Given the description of an element on the screen output the (x, y) to click on. 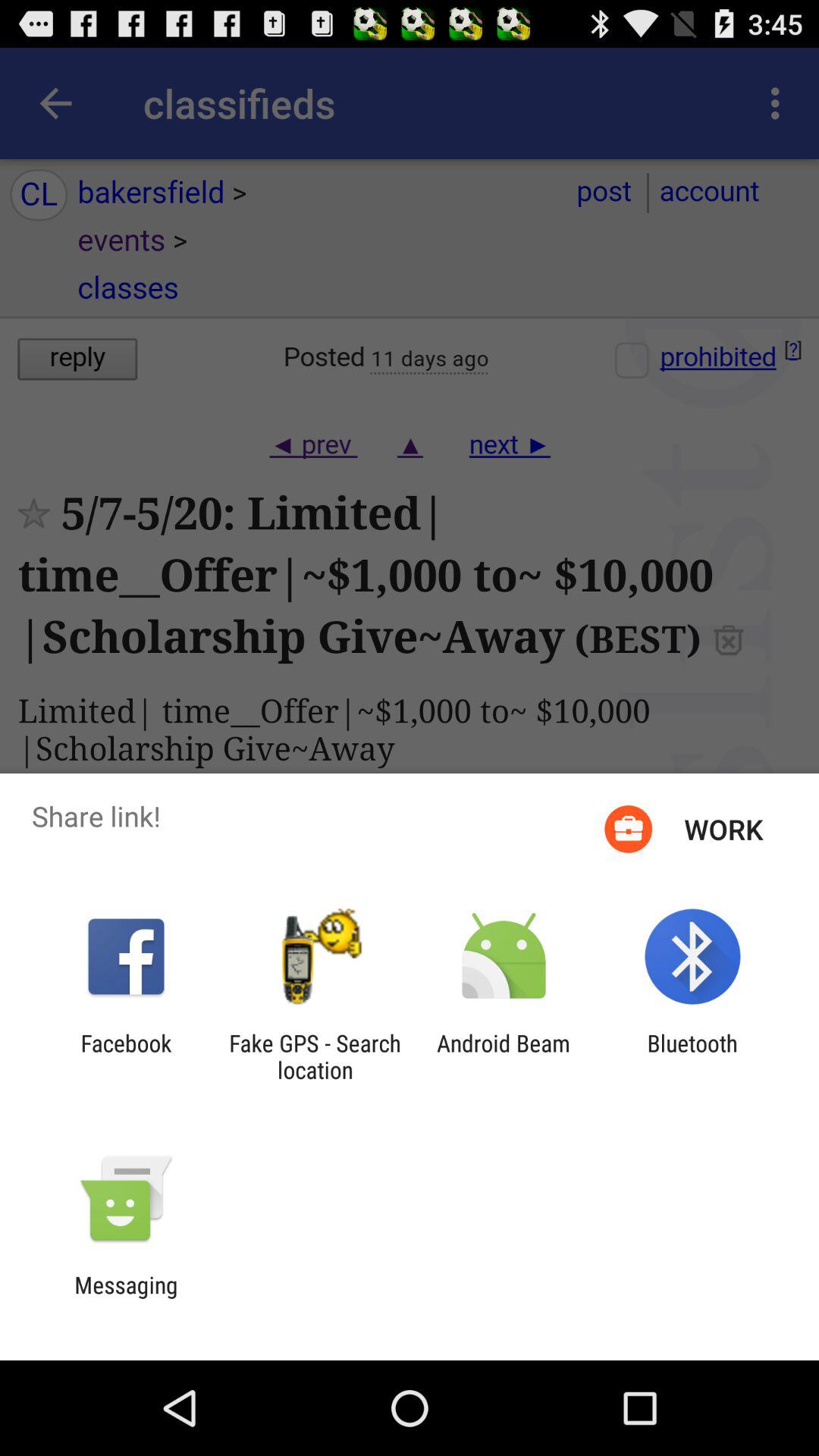
click app next to the fake gps search (503, 1056)
